Given the description of an element on the screen output the (x, y) to click on. 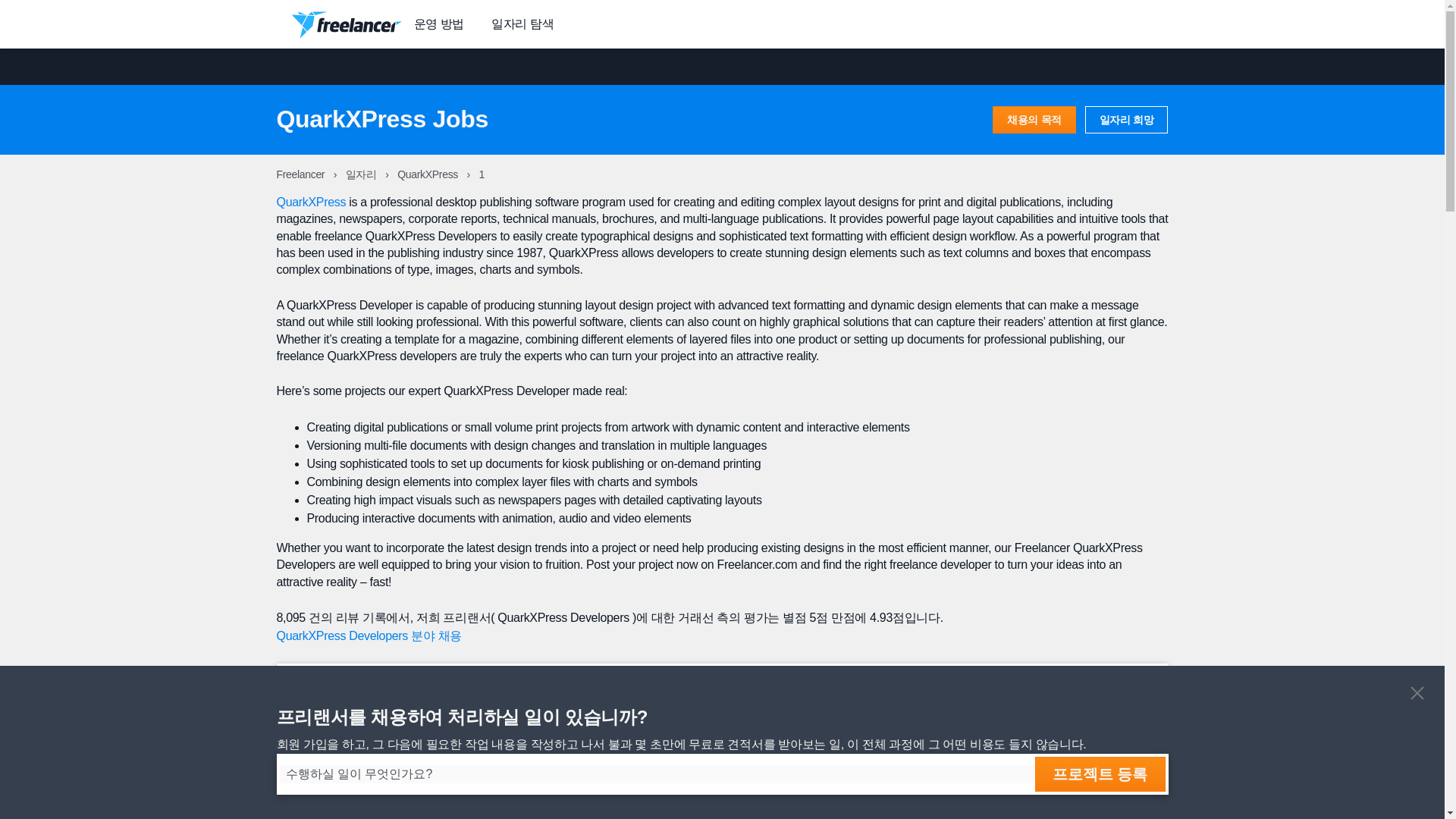
Last (1143, 816)
QuarkXPress (428, 174)
Last (1125, 761)
Freelancer (301, 174)
First (1039, 761)
QuarkXPress (311, 201)
First (1058, 816)
0 (1101, 816)
0 (1082, 761)
